Given the description of an element on the screen output the (x, y) to click on. 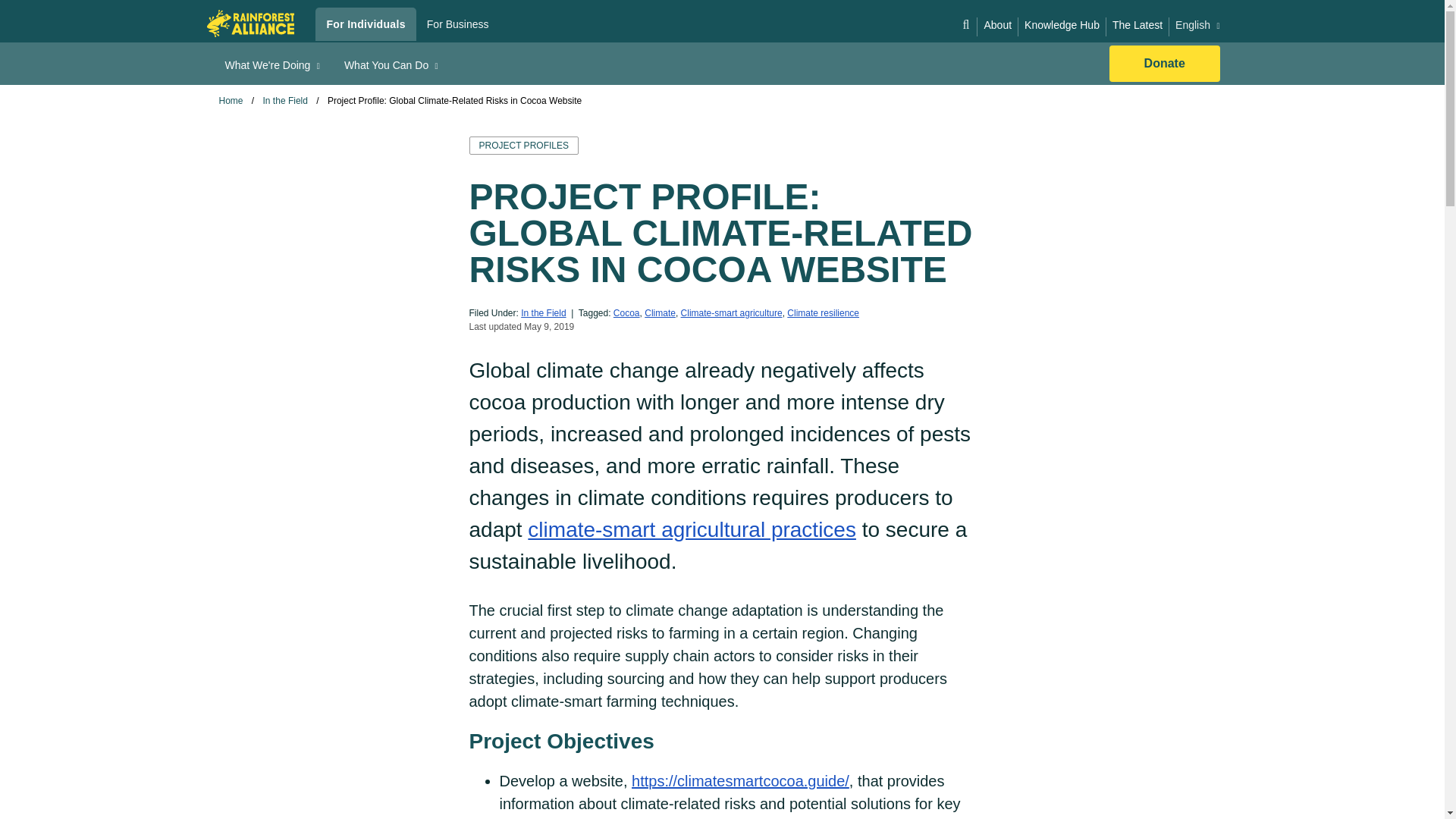
Home (250, 23)
The Latest (1137, 25)
About (996, 25)
For Business (457, 23)
For Individuals (364, 23)
Knowledge Hub (1061, 25)
